Given the description of an element on the screen output the (x, y) to click on. 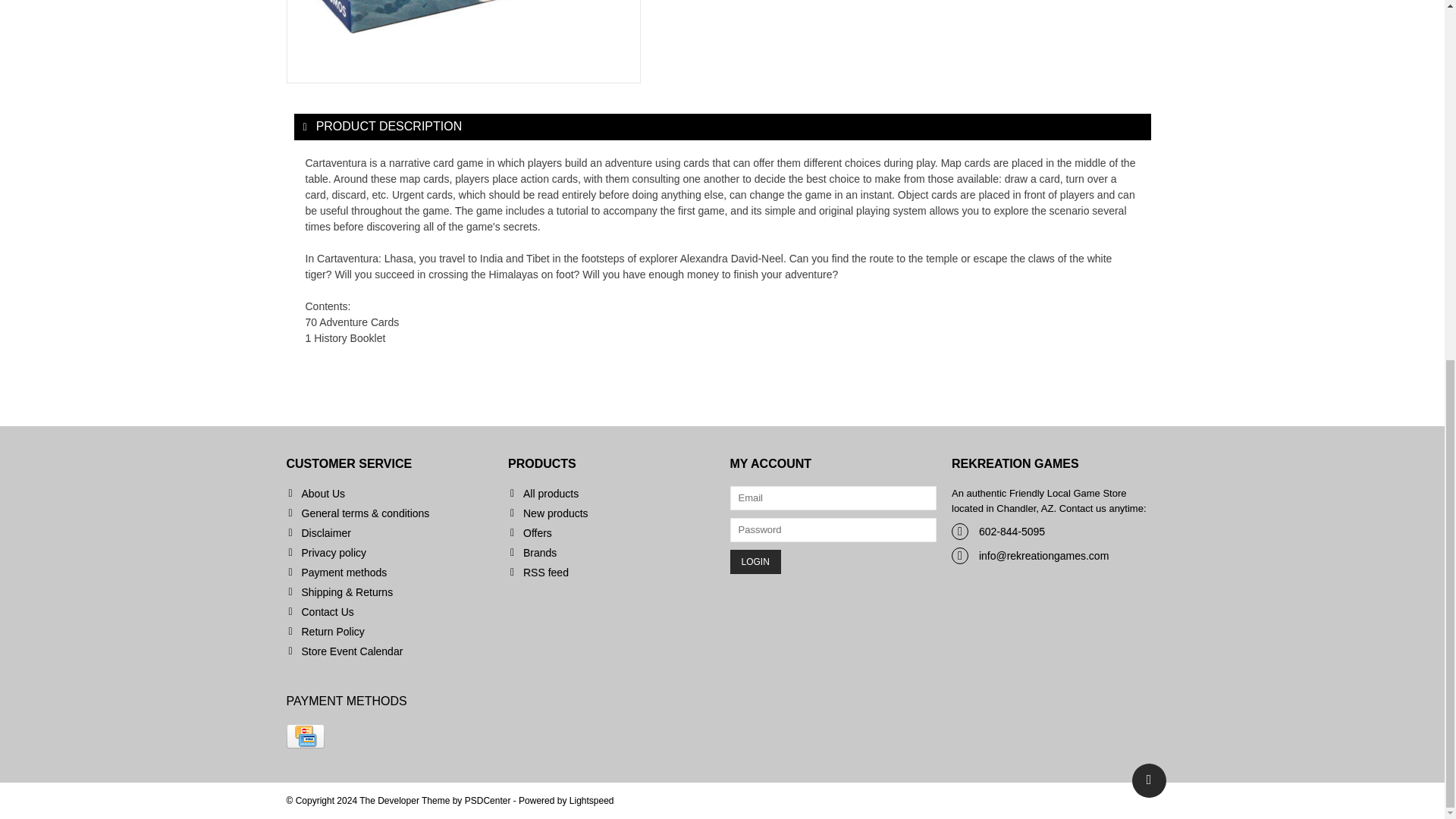
Login (754, 561)
